Given the description of an element on the screen output the (x, y) to click on. 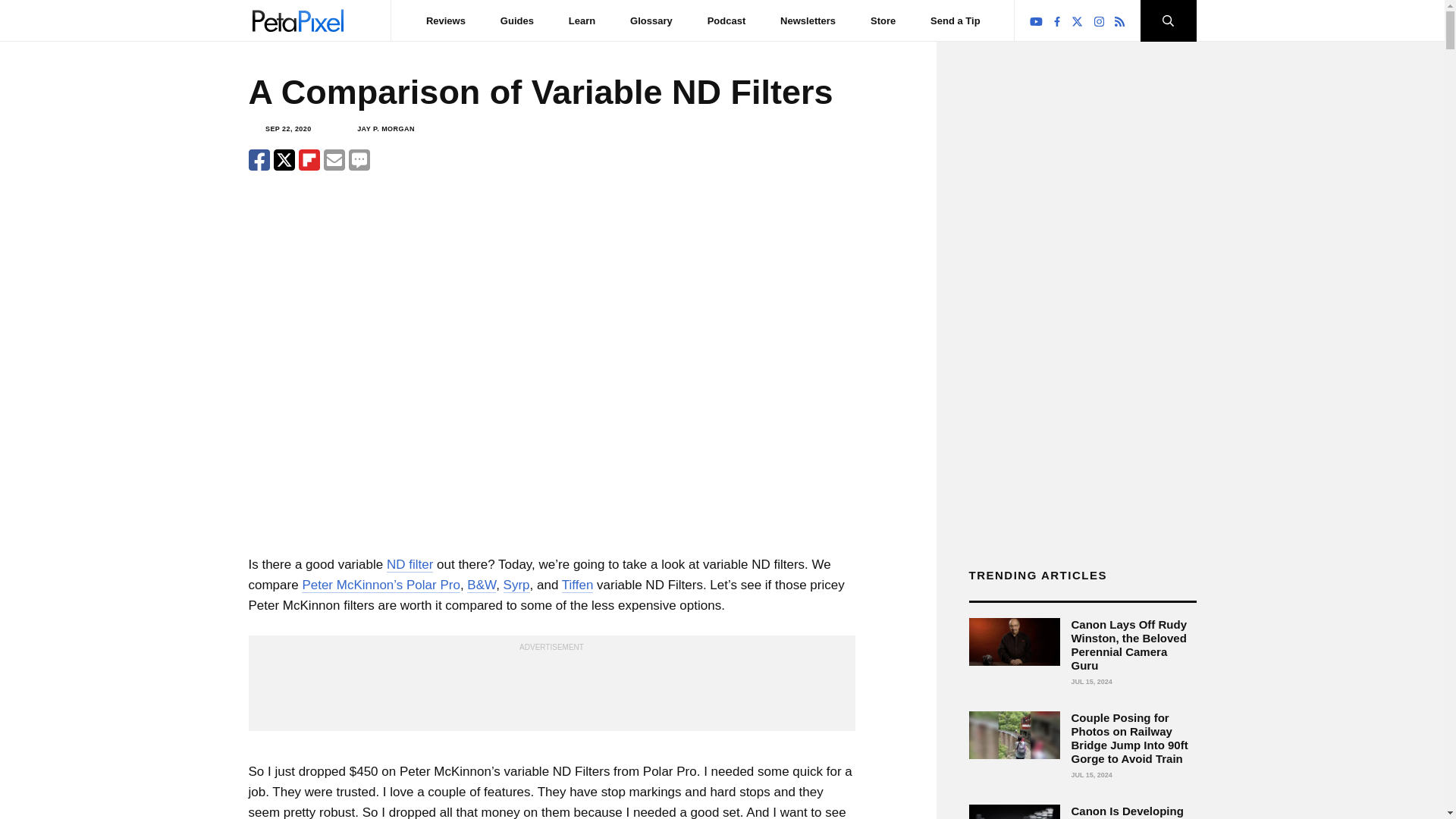
Reviews (445, 20)
Newsletters (807, 20)
RSS Feed (1119, 21)
ND filter (409, 564)
Follow PetaPixel on YouTube (1035, 21)
Follow PetaPixel on Facebook (1056, 21)
Comments (359, 159)
PetaPixel (296, 20)
Tiffen (578, 585)
Share on X (283, 159)
Follow PetaPixel on X (1076, 20)
Follow PetaPixel on Instagram (1099, 20)
Syrp (516, 585)
Glossary (651, 20)
Store (882, 20)
